Given the description of an element on the screen output the (x, y) to click on. 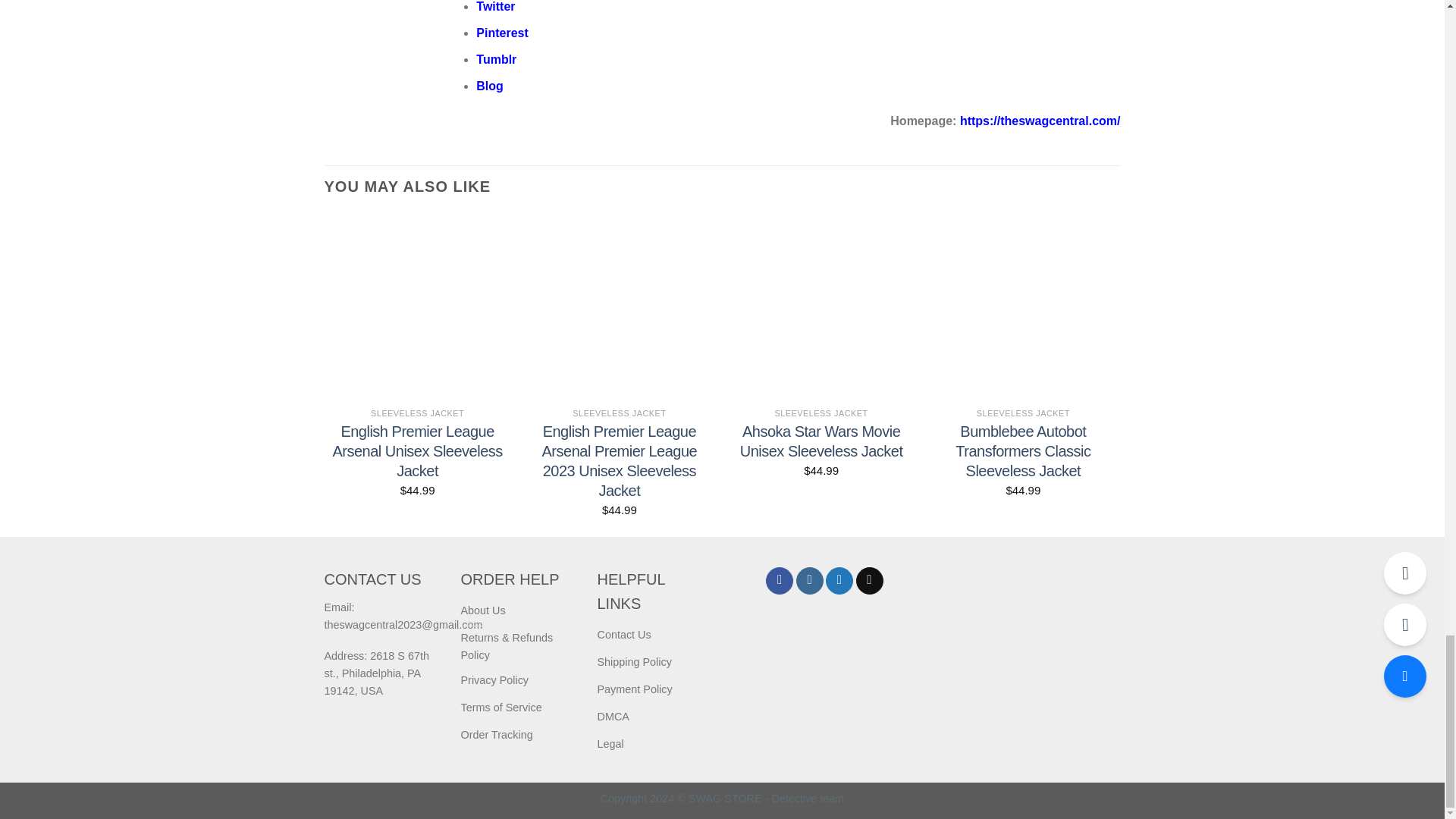
Follow on Twitter (839, 581)
Follow on Facebook (779, 581)
Send us an email (869, 581)
Follow on Instagram (810, 581)
